Given the description of an element on the screen output the (x, y) to click on. 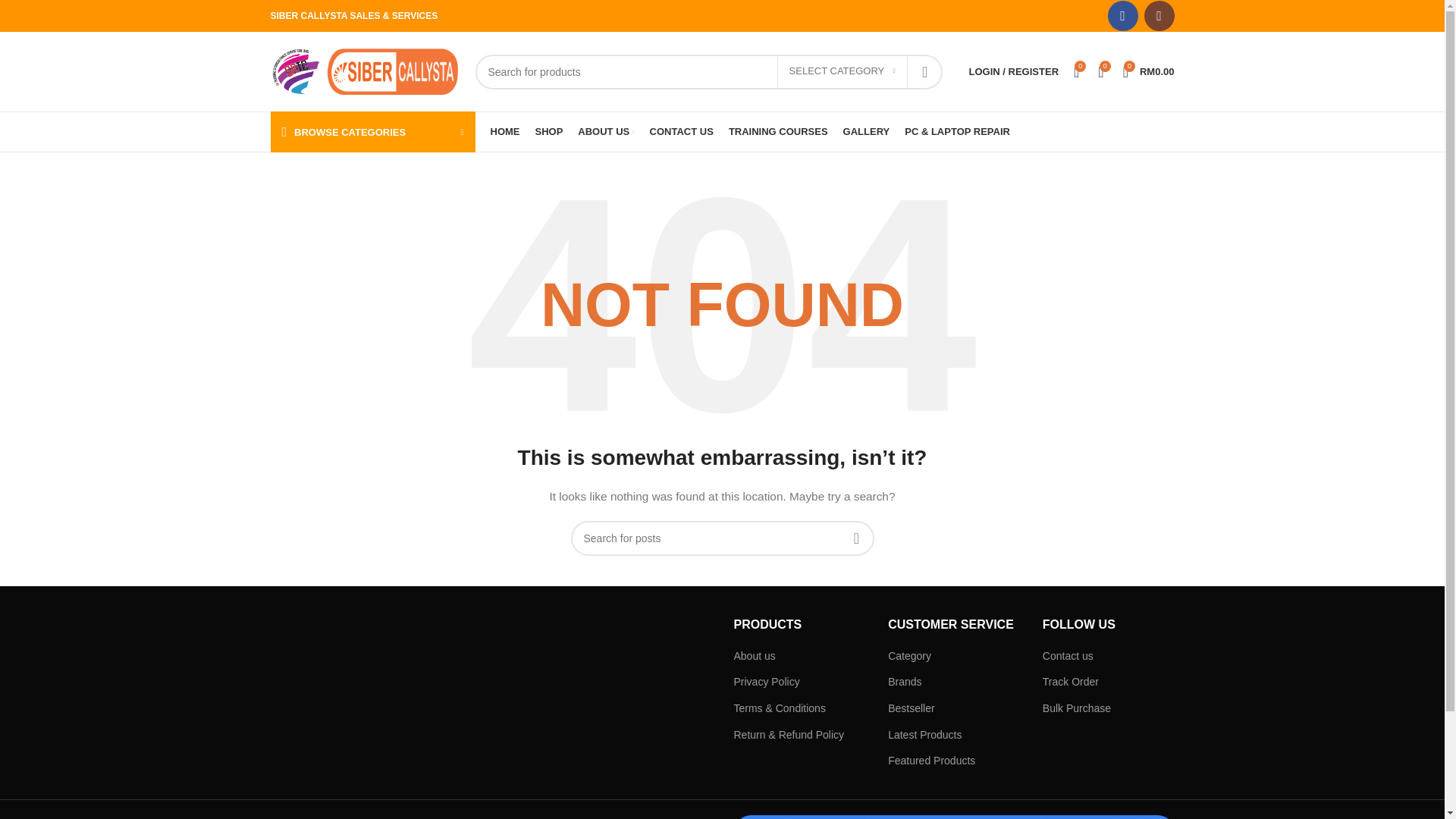
SELECT CATEGORY (842, 71)
Search for products (708, 71)
SELECT CATEGORY (842, 71)
Search for posts (721, 538)
Shopping cart (1148, 71)
My account (1012, 71)
